Given the description of an element on the screen output the (x, y) to click on. 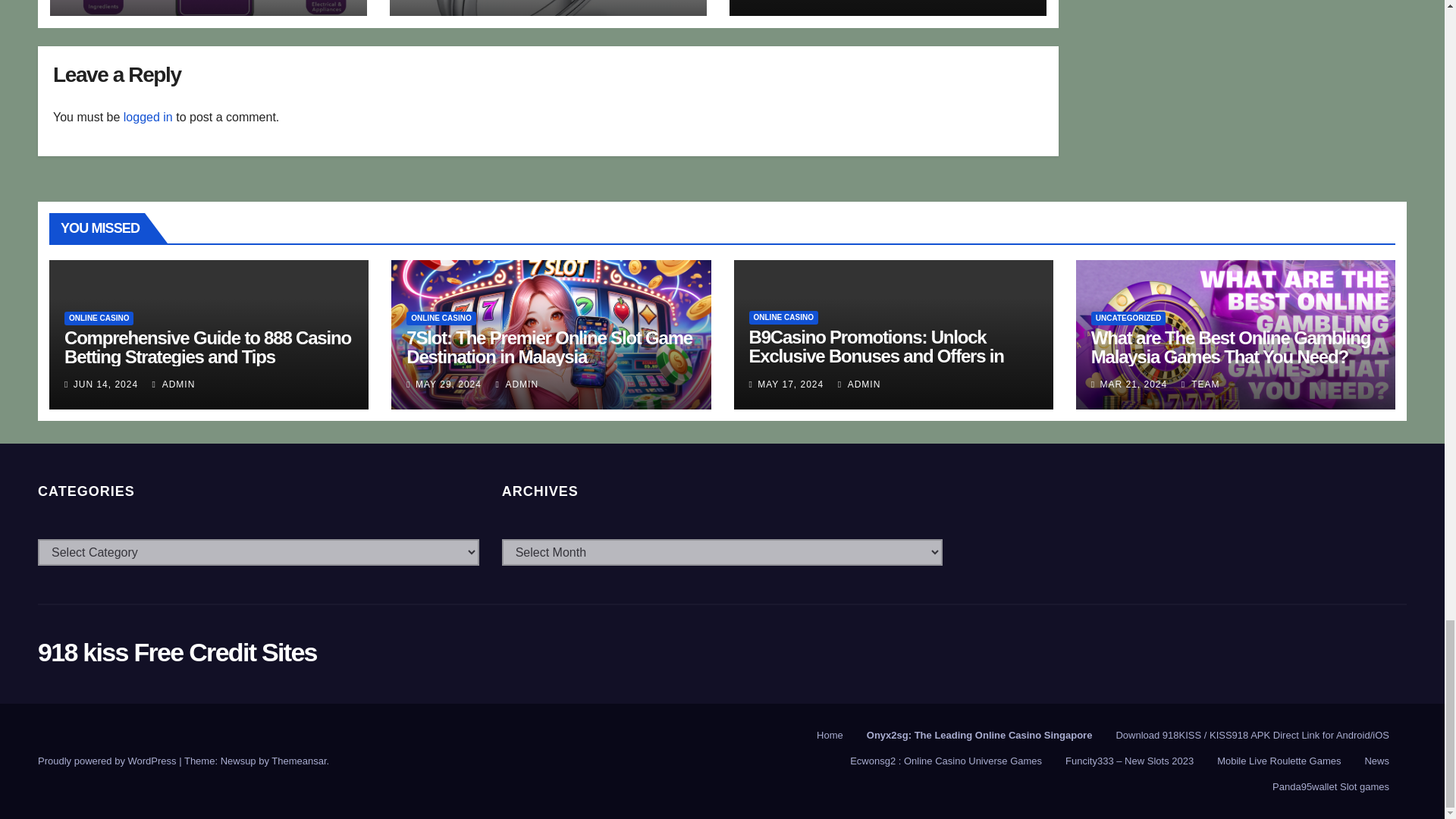
Home (829, 735)
